Given the description of an element on the screen output the (x, y) to click on. 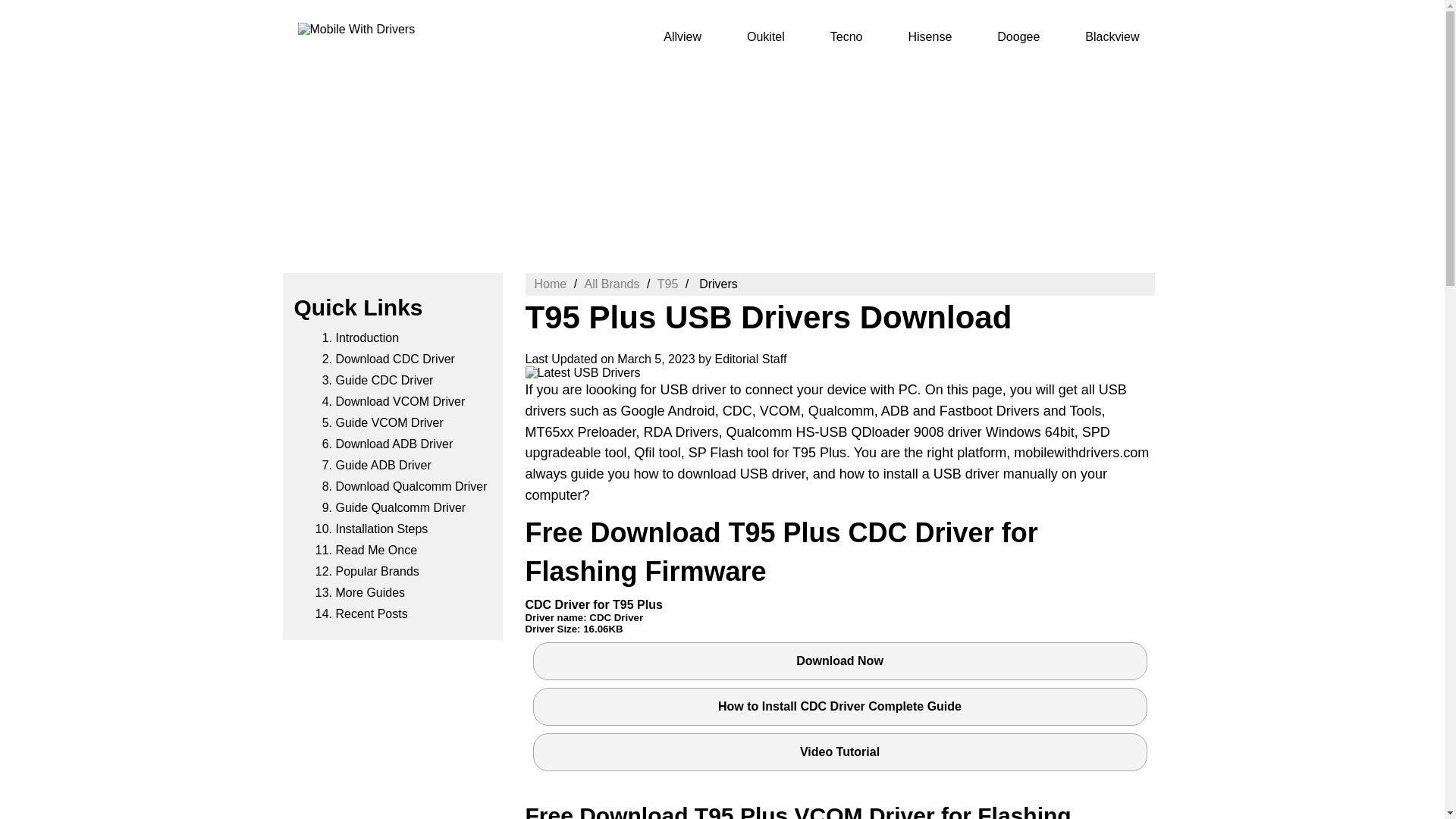
Introduction (366, 337)
Download Now (839, 661)
Download CDC Driver (394, 358)
Guide VCOM Driver (388, 422)
Recent Posts (370, 613)
Allview (681, 36)
Blackview (1111, 36)
How to Install CDC Driver Complete Guide (839, 706)
Tecno (846, 36)
Guide CDC Driver (383, 379)
